Given the description of an element on the screen output the (x, y) to click on. 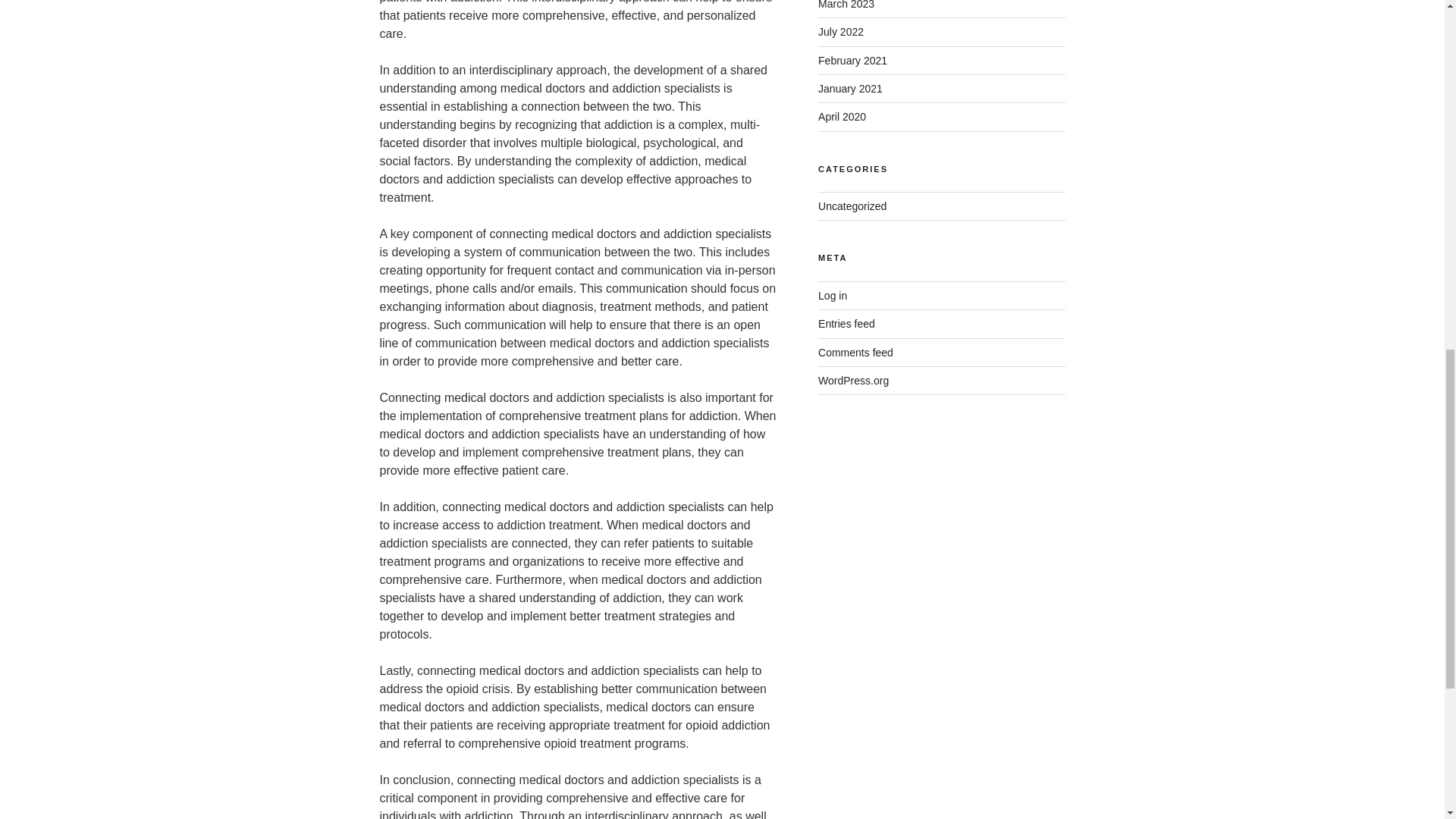
Log in (832, 295)
Uncategorized (852, 205)
Comments feed (855, 352)
March 2023 (846, 4)
Entries feed (846, 323)
July 2022 (840, 31)
WordPress.org (853, 380)
January 2021 (850, 88)
February 2021 (852, 60)
April 2020 (842, 116)
